Given the description of an element on the screen output the (x, y) to click on. 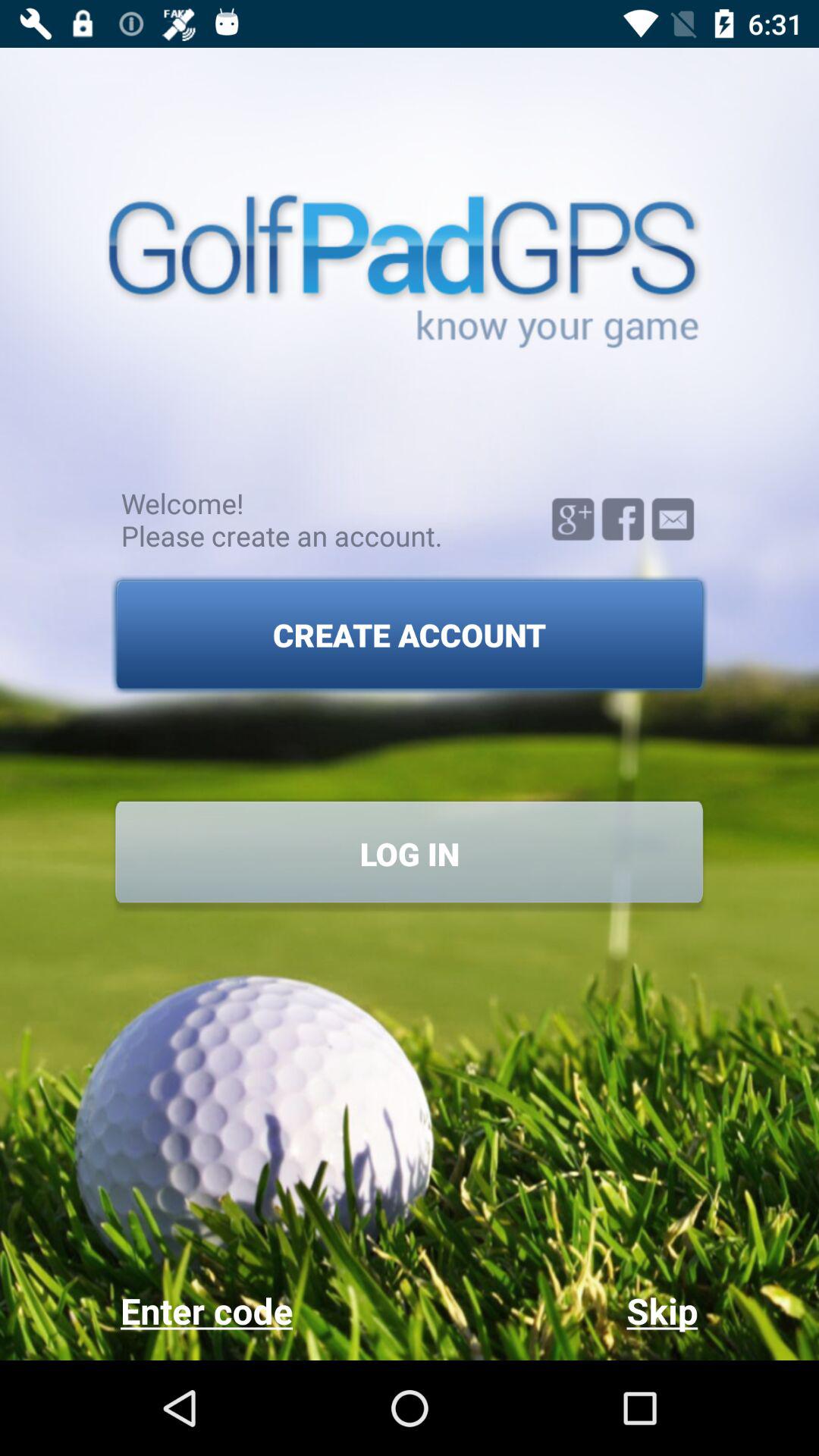
launch the item to the left of the skip item (264, 1310)
